Given the description of an element on the screen output the (x, y) to click on. 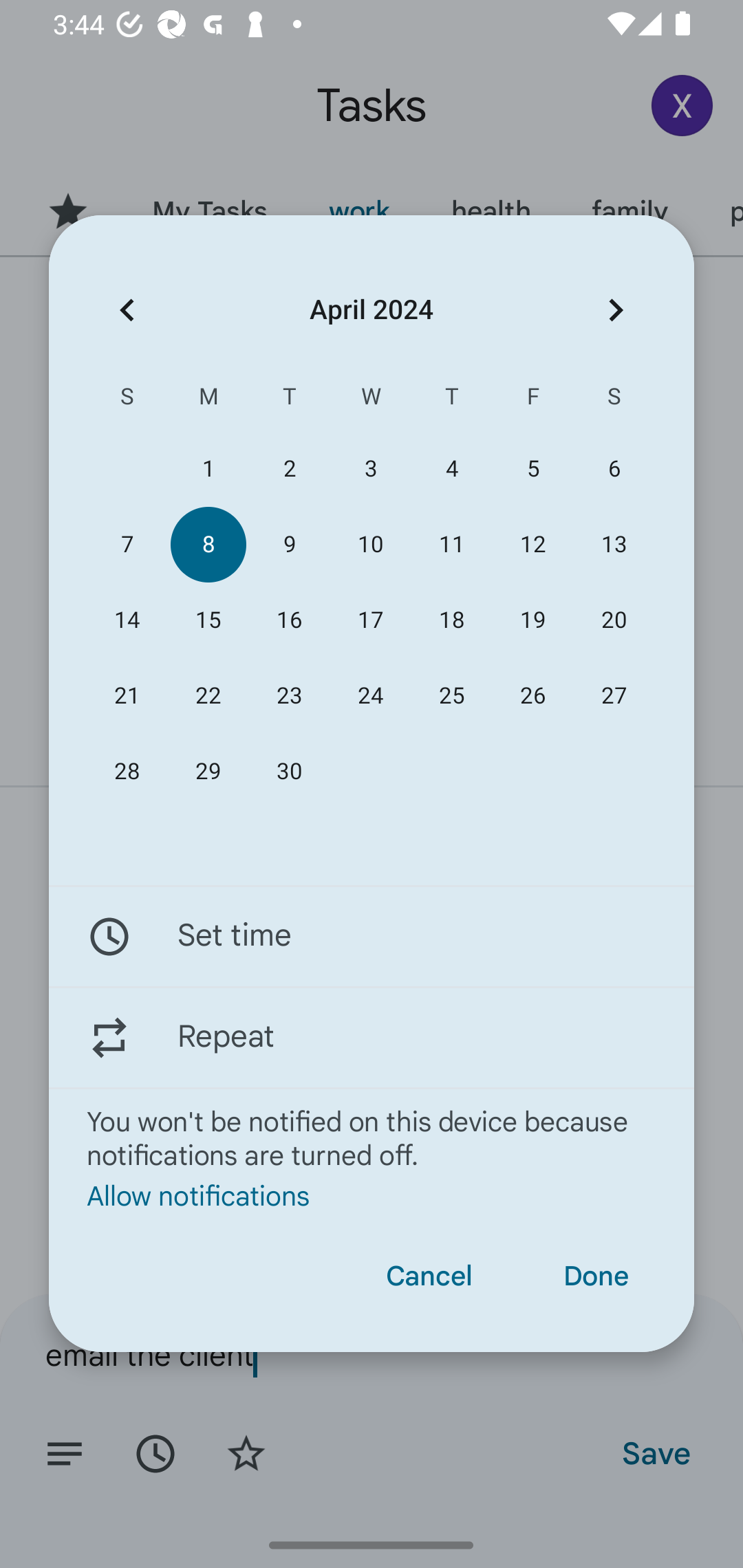
Previous month (126, 309)
Next month (615, 309)
1 01 April 2024 (207, 468)
2 02 April 2024 (288, 468)
3 03 April 2024 (370, 468)
4 04 April 2024 (451, 468)
5 05 April 2024 (532, 468)
6 06 April 2024 (613, 468)
7 07 April 2024 (126, 543)
8 08 April 2024 (207, 543)
9 09 April 2024 (288, 543)
10 10 April 2024 (370, 543)
11 11 April 2024 (451, 543)
12 12 April 2024 (532, 543)
13 13 April 2024 (613, 543)
14 14 April 2024 (126, 619)
15 15 April 2024 (207, 619)
16 16 April 2024 (288, 619)
17 17 April 2024 (370, 619)
18 18 April 2024 (451, 619)
19 19 April 2024 (532, 619)
20 20 April 2024 (613, 619)
21 21 April 2024 (126, 695)
22 22 April 2024 (207, 695)
23 23 April 2024 (288, 695)
24 24 April 2024 (370, 695)
25 25 April 2024 (451, 695)
26 26 April 2024 (532, 695)
27 27 April 2024 (613, 695)
28 28 April 2024 (126, 771)
29 29 April 2024 (207, 771)
30 30 April 2024 (288, 771)
Set time (371, 936)
Repeat (371, 1036)
Allow notifications (371, 1195)
Cancel (429, 1275)
Done (595, 1275)
